Given the description of an element on the screen output the (x, y) to click on. 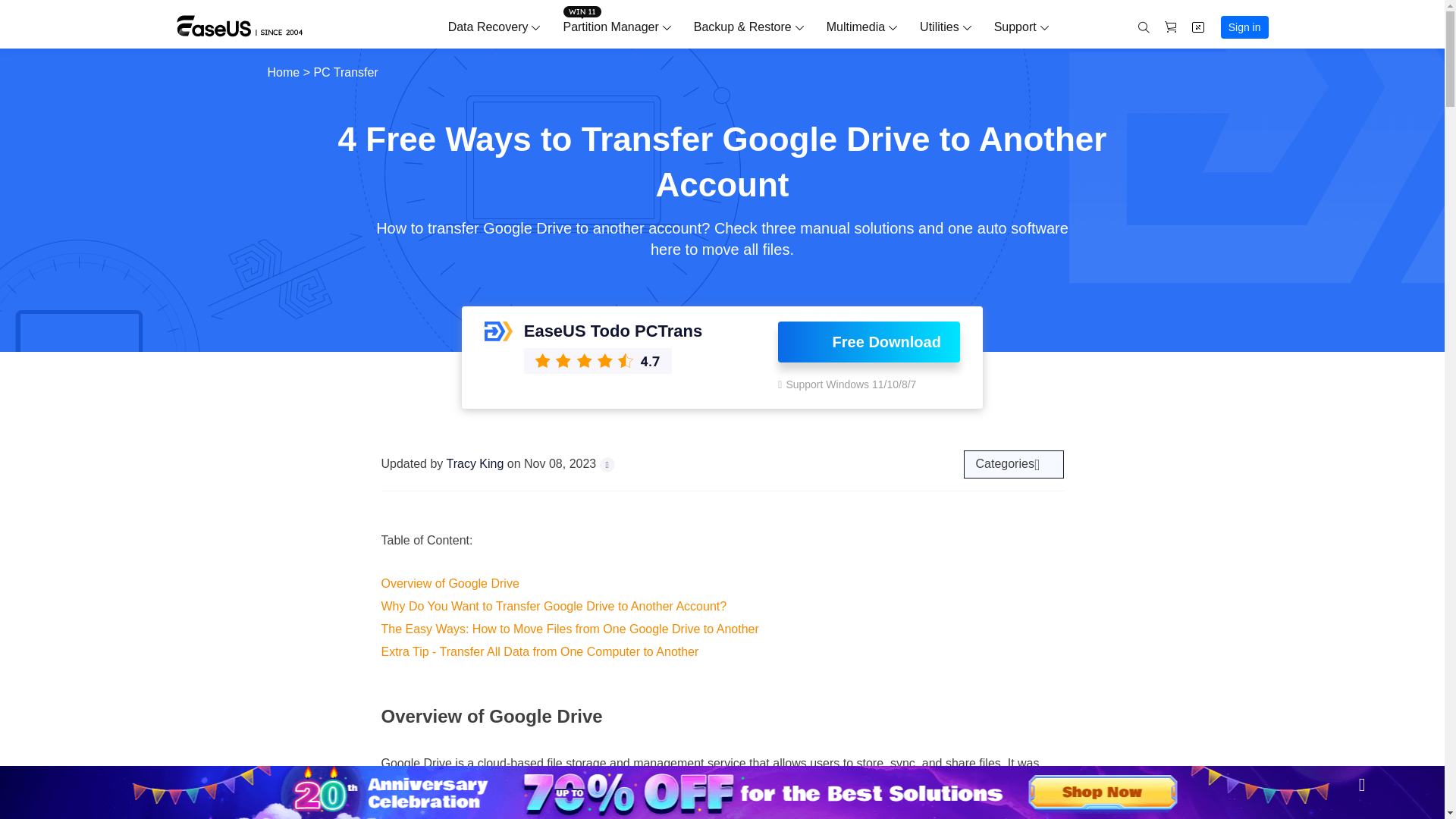
Data Recovery (488, 26)
Partition Manager (609, 26)
